Given the description of an element on the screen output the (x, y) to click on. 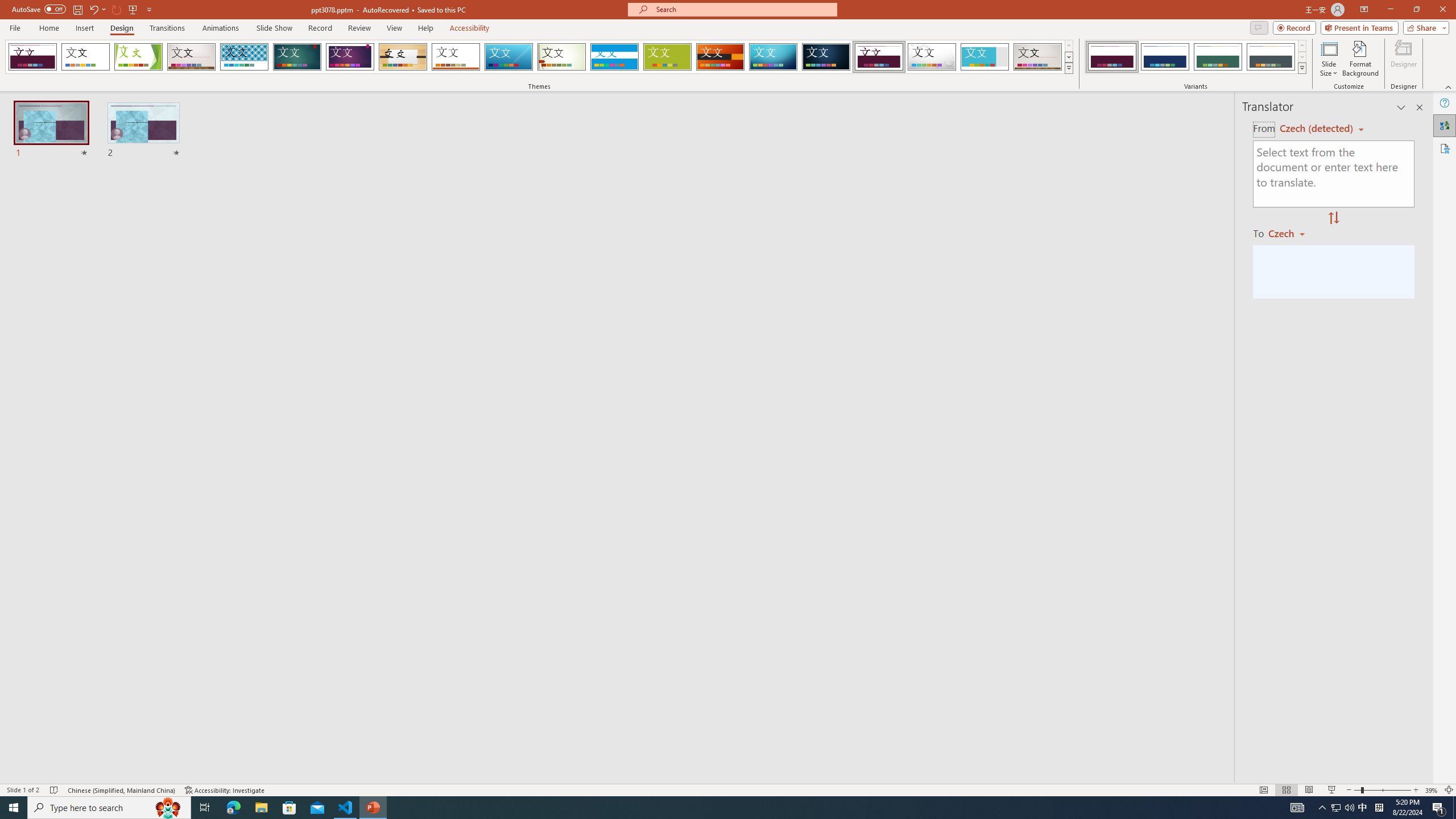
Organic (403, 56)
Dividend Variant 3 (1217, 56)
Gallery (1037, 56)
Ion Boardroom (350, 56)
Damask (826, 56)
Retrospect (455, 56)
